Given the description of an element on the screen output the (x, y) to click on. 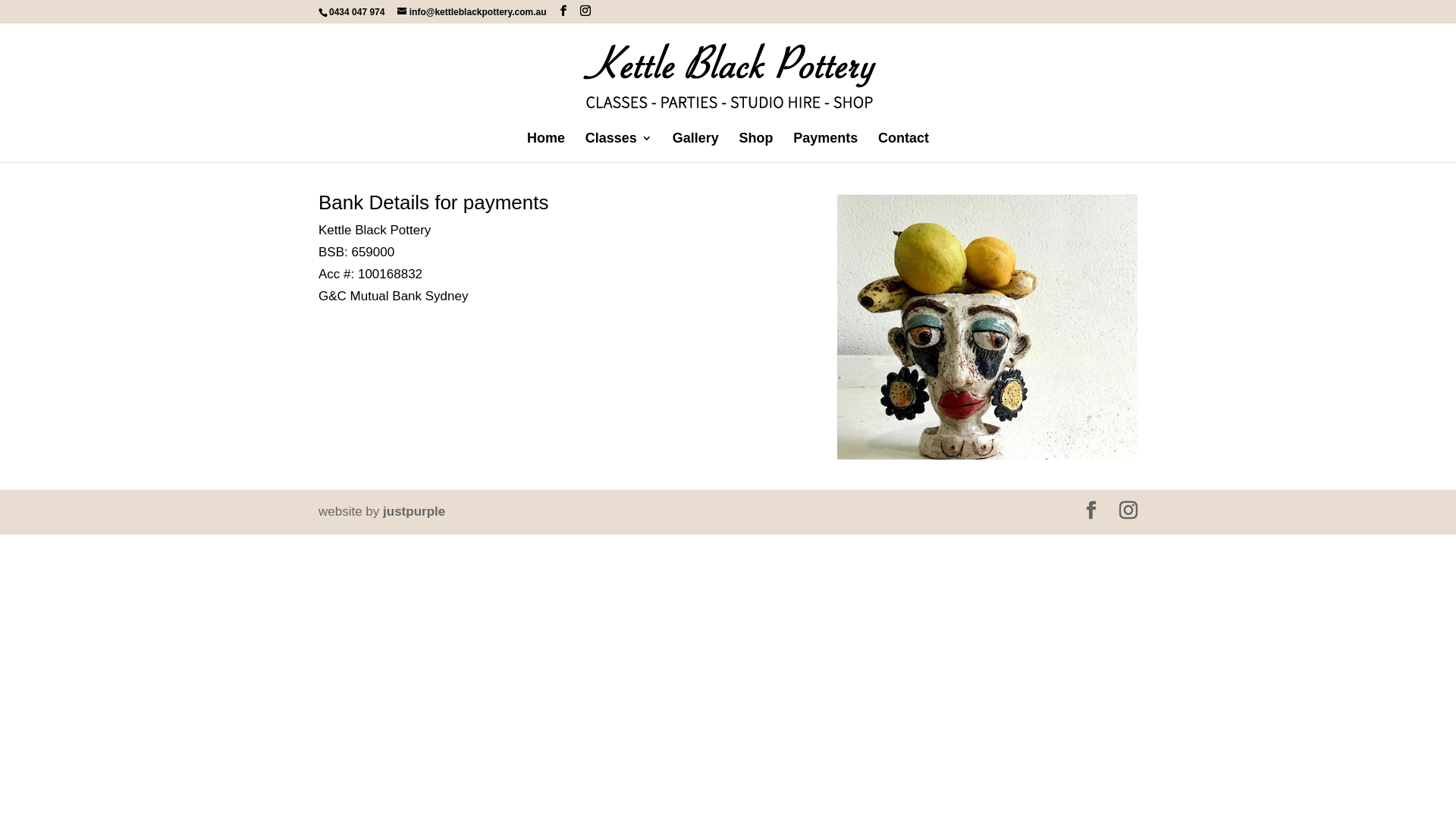
Home Element type: text (545, 147)
justpurple Element type: text (413, 511)
Gallery Element type: text (695, 147)
info@kettleblackpottery.com.au Element type: text (471, 11)
Classes Element type: text (618, 147)
Payments Element type: text (825, 147)
Contact Element type: text (903, 147)
Shop Element type: text (755, 147)
image1-3 Element type: hover (987, 325)
